Given the description of an element on the screen output the (x, y) to click on. 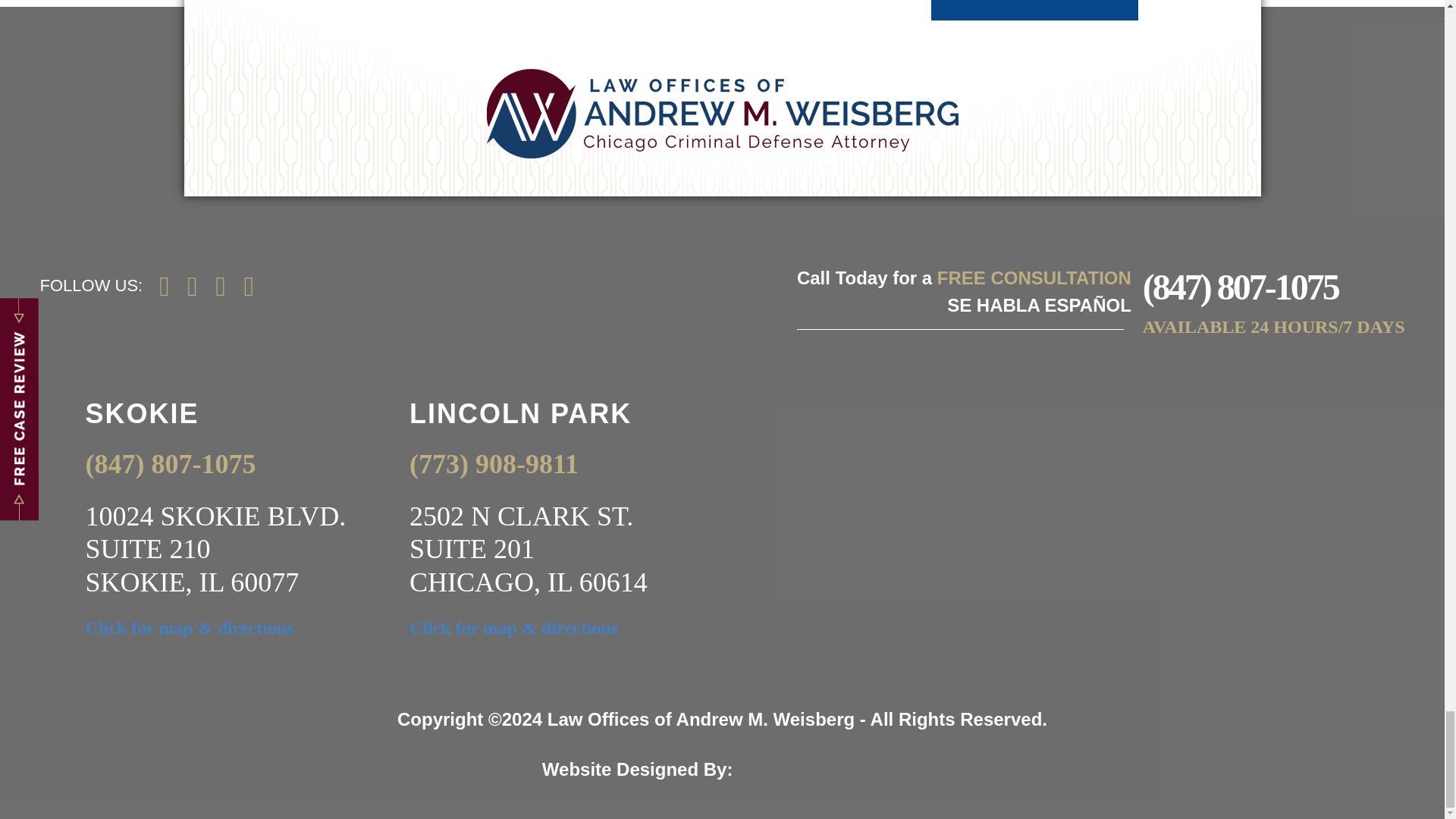
Law Offices of Andrew M. Weisberg (722, 112)
